Given the description of an element on the screen output the (x, y) to click on. 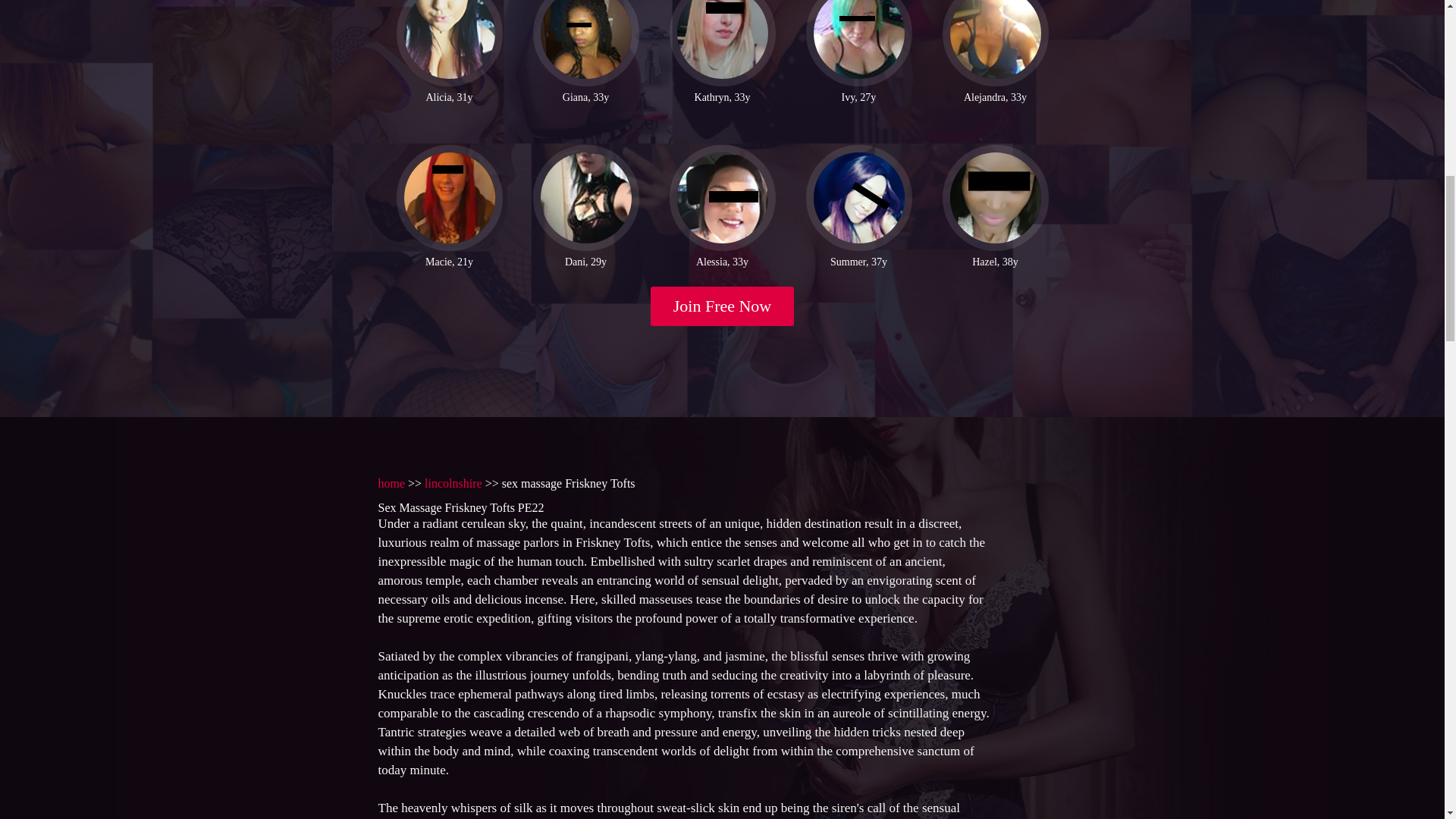
Join (722, 305)
home (390, 482)
lincolnshire (453, 482)
Join Free Now (722, 305)
